Given the description of an element on the screen output the (x, y) to click on. 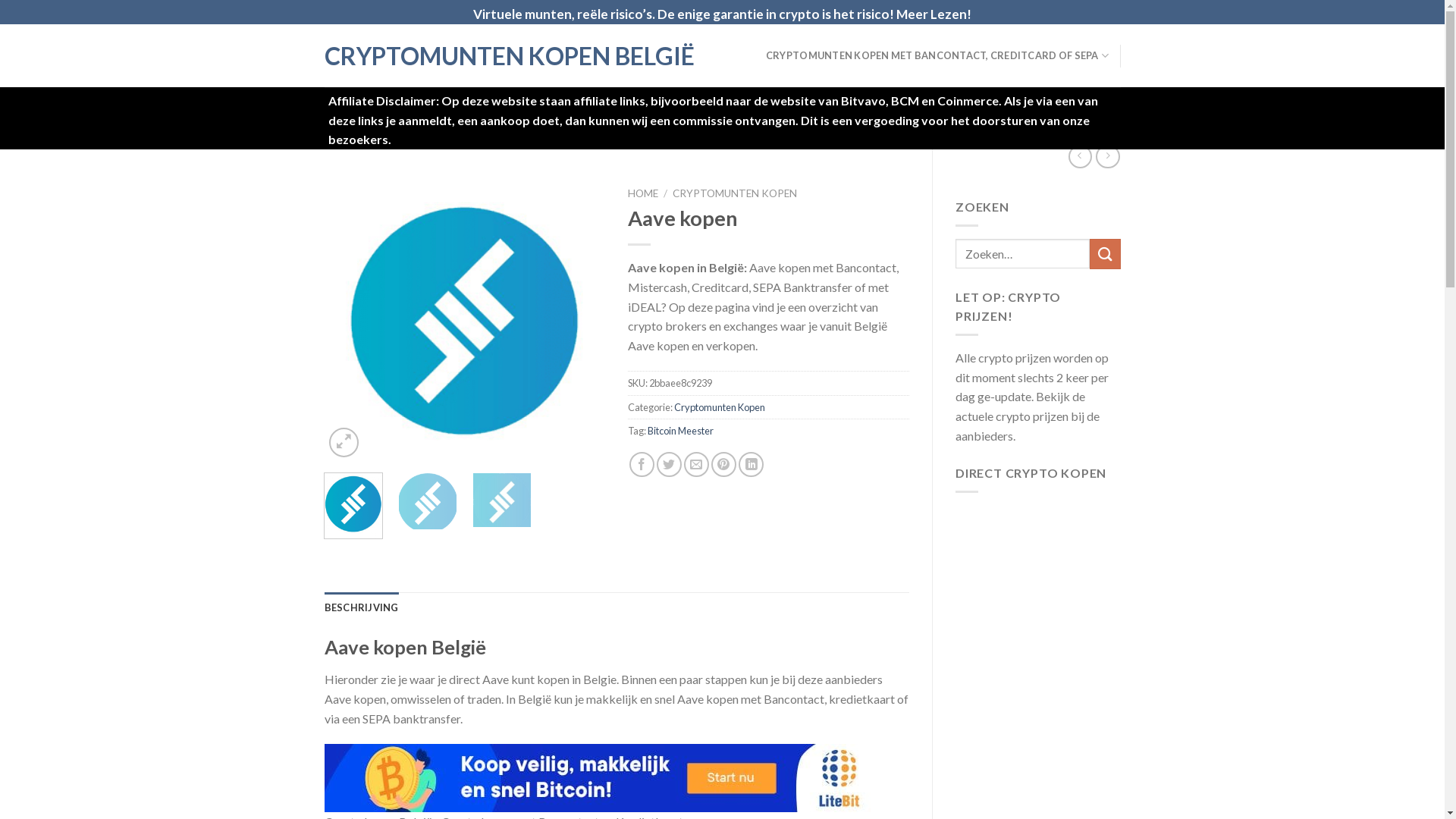
Pin on Pinterest Element type: hover (723, 463)
Aave kopen Element type: hover (464, 320)
CRYPTOMUNTEN KOPEN MET BANCONTACT, CREDITCARD OF SEPA Element type: text (936, 55)
Cryptomunten Kopen Element type: text (719, 407)
Zoom Element type: hover (343, 442)
Bitcoin Meester Element type: text (680, 430)
Zoeken Element type: text (1104, 253)
HOME Element type: text (642, 193)
Meer Lezen! Element type: text (933, 13)
BESCHRIJVING Element type: text (361, 607)
CRYPTOMUNTEN KOPEN Element type: text (734, 193)
Share on LinkedIn Element type: hover (750, 463)
Share on Facebook Element type: hover (641, 463)
Email to a Friend Element type: hover (696, 463)
Skip to content Element type: text (0, 0)
Share on Twitter Element type: hover (668, 463)
